Given the description of an element on the screen output the (x, y) to click on. 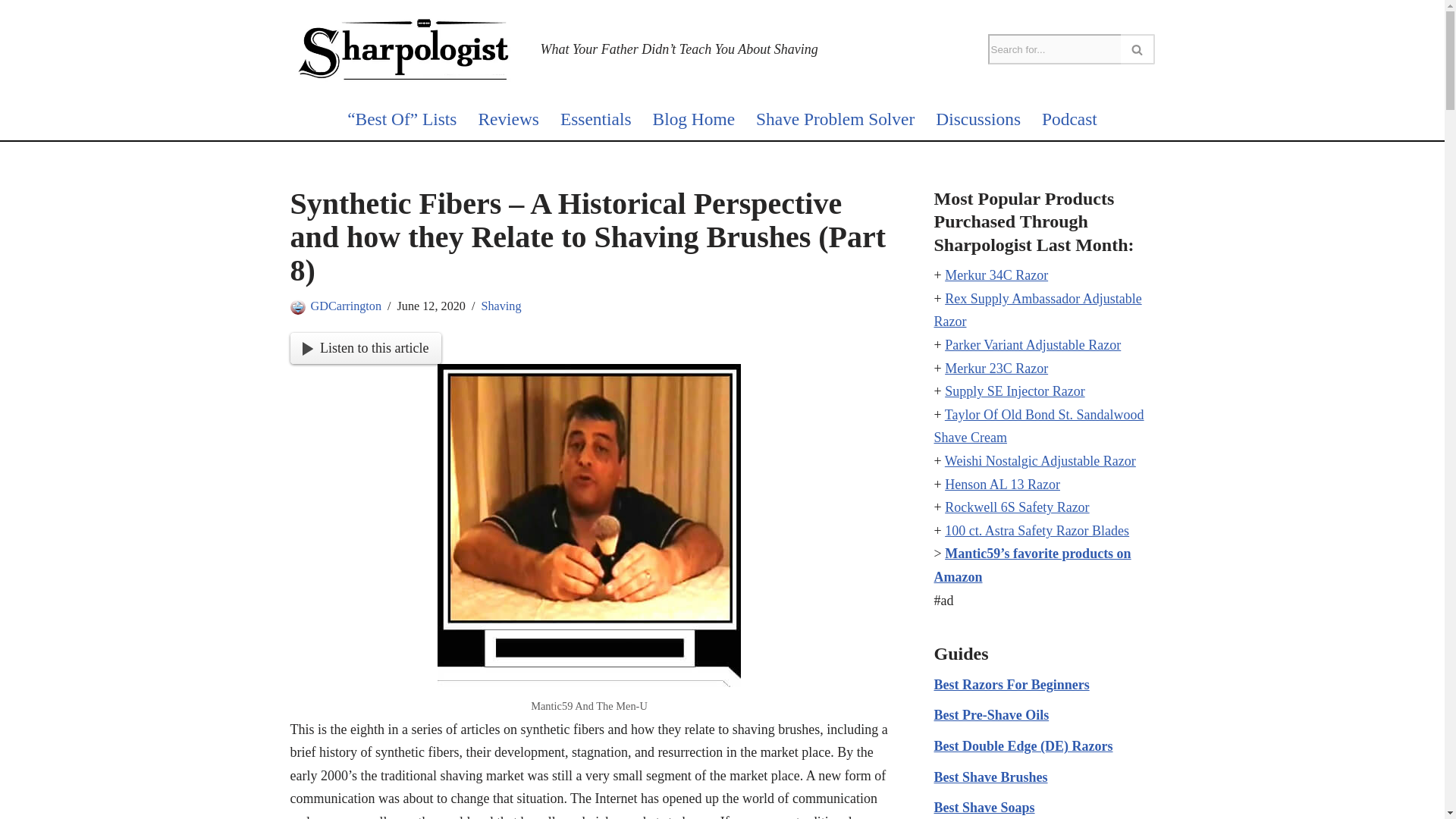
Reviews (507, 118)
GDCarrington (346, 305)
Shave Problem Solver (834, 118)
Essentials (595, 118)
Skip to content (11, 31)
Podcast (1069, 118)
Posts by GDCarrington (346, 305)
Taylor Of Old Bond St. Sandalwood Shave Cream (1039, 426)
Merkur 23C Razor (996, 368)
MarkandaSyntheticBrushin2006small (589, 525)
